Given the description of an element on the screen output the (x, y) to click on. 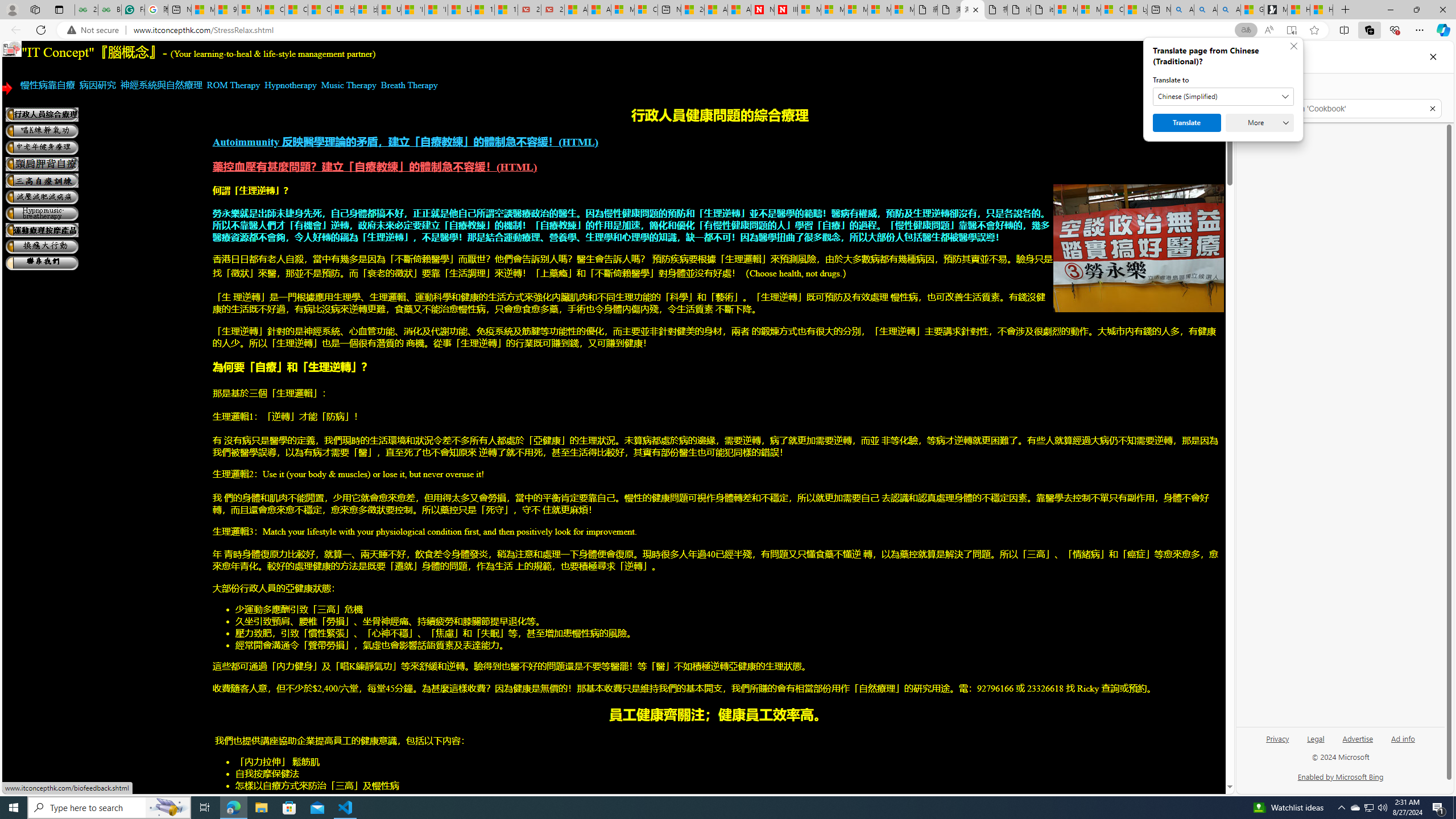
25 Basic Linux Commands For Beginners - GeeksforGeeks (86, 9)
Cloud Computing Services | Microsoft Azure (645, 9)
ROM Therapy (233, 85)
Lifestyle - MSN (459, 9)
Best SSL Certificates Provider in India - GeeksforGeeks (109, 9)
Not secure (95, 29)
USA TODAY - MSN (389, 9)
